Given the description of an element on the screen output the (x, y) to click on. 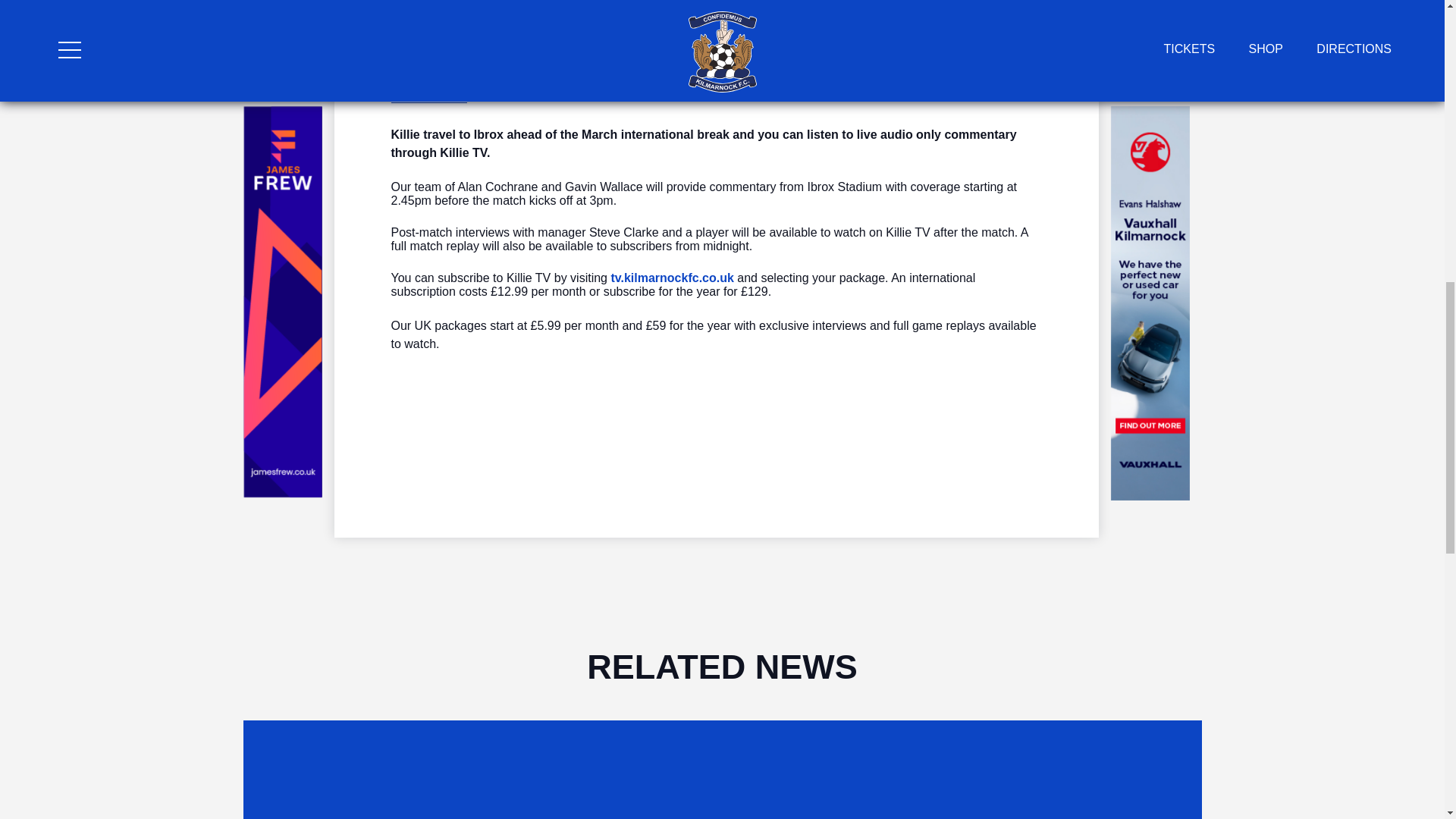
tv.kilmarnockfc.co.uk (671, 277)
